Given the description of an element on the screen output the (x, y) to click on. 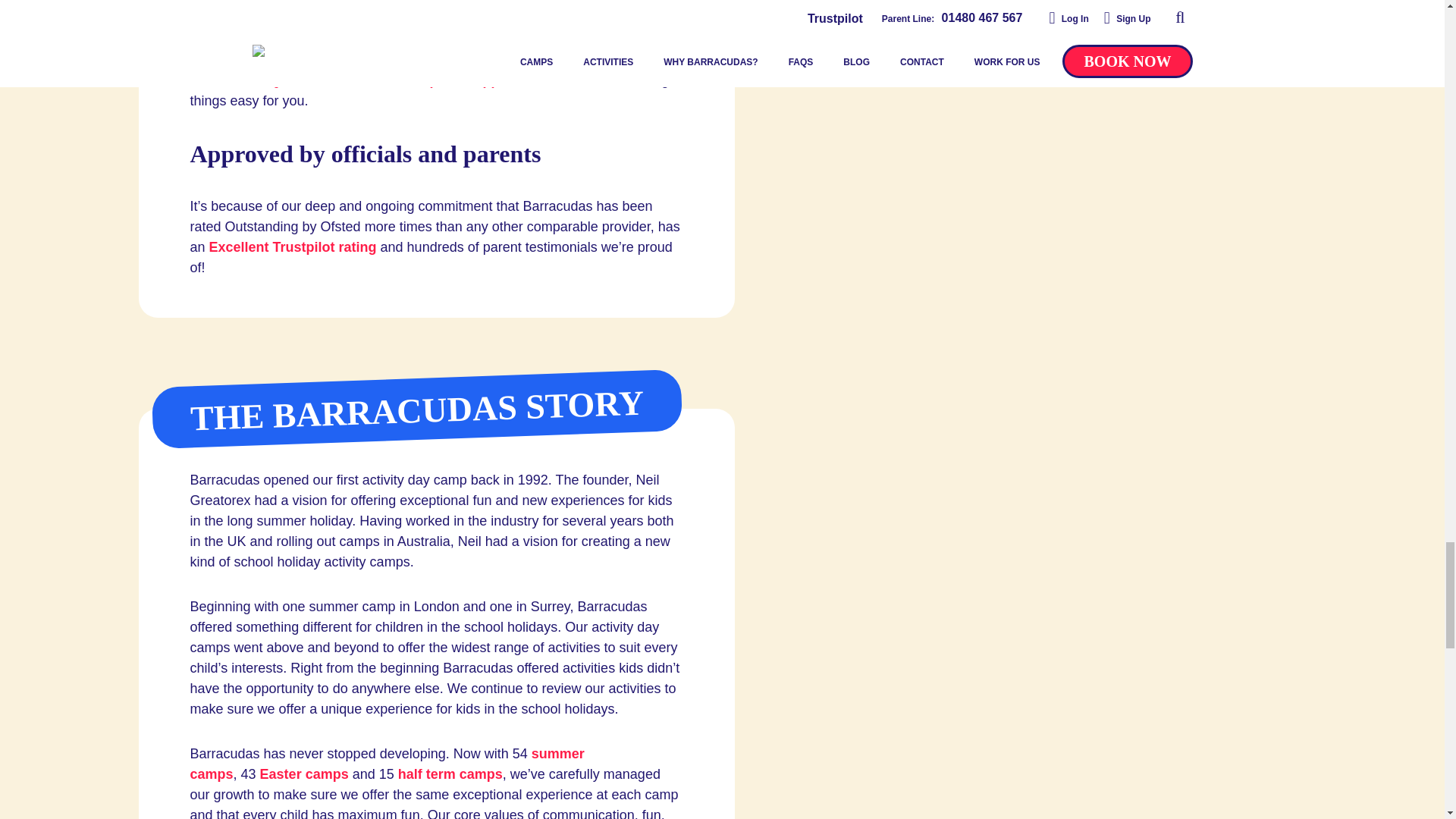
Contactless registration and parent app (344, 79)
Barracudas half term camps (449, 774)
